Given the description of an element on the screen output the (x, y) to click on. 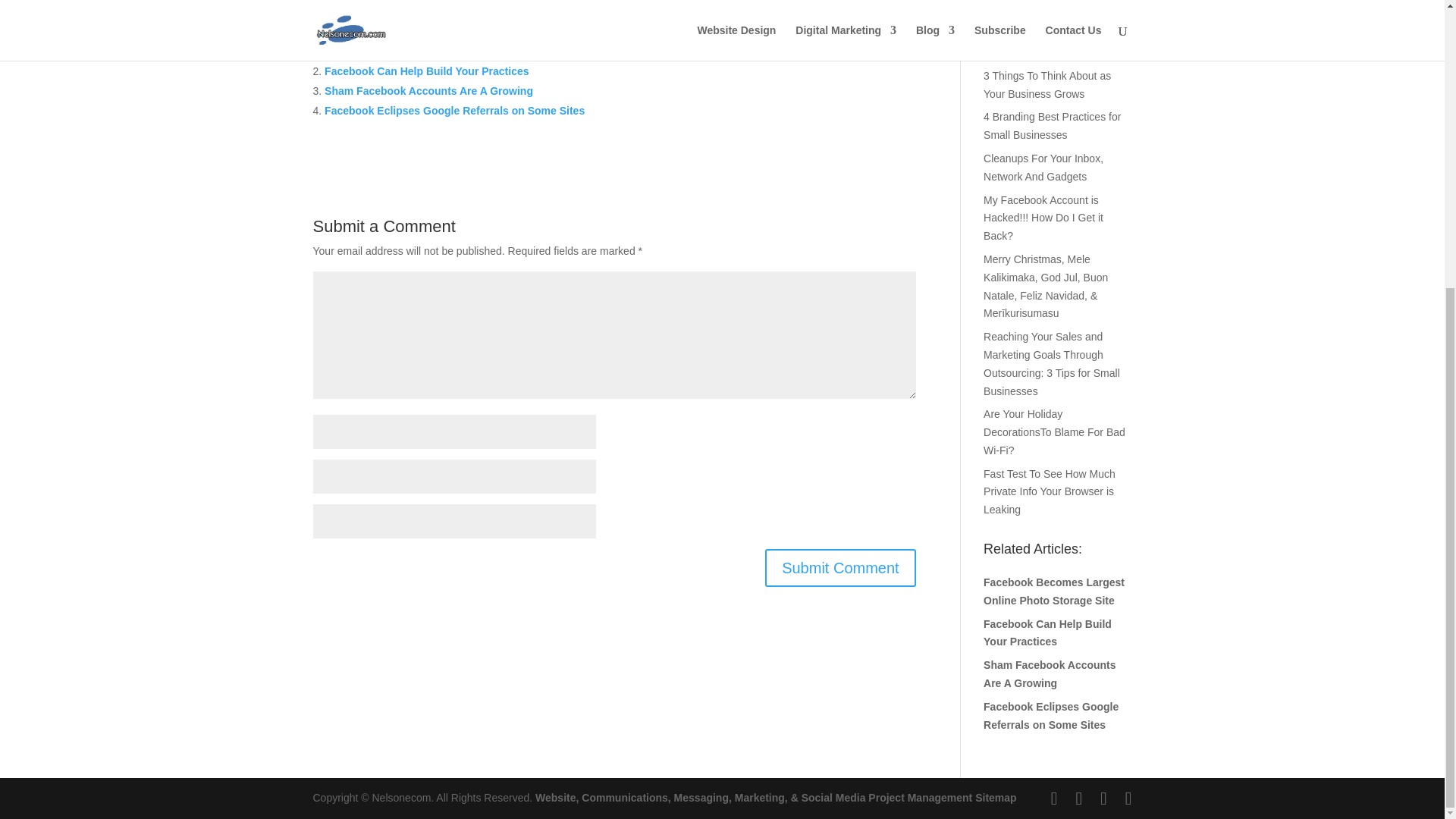
Facebook Becomes Largest Online Photo Storage Site (461, 51)
Submit Comment (840, 567)
Sham Facebook Accounts Are A Growing (428, 91)
Facebook Can Help Build Your Practices (426, 70)
Facebook Eclipses Google Referrals on Some Sites (454, 110)
